Given the description of an element on the screen output the (x, y) to click on. 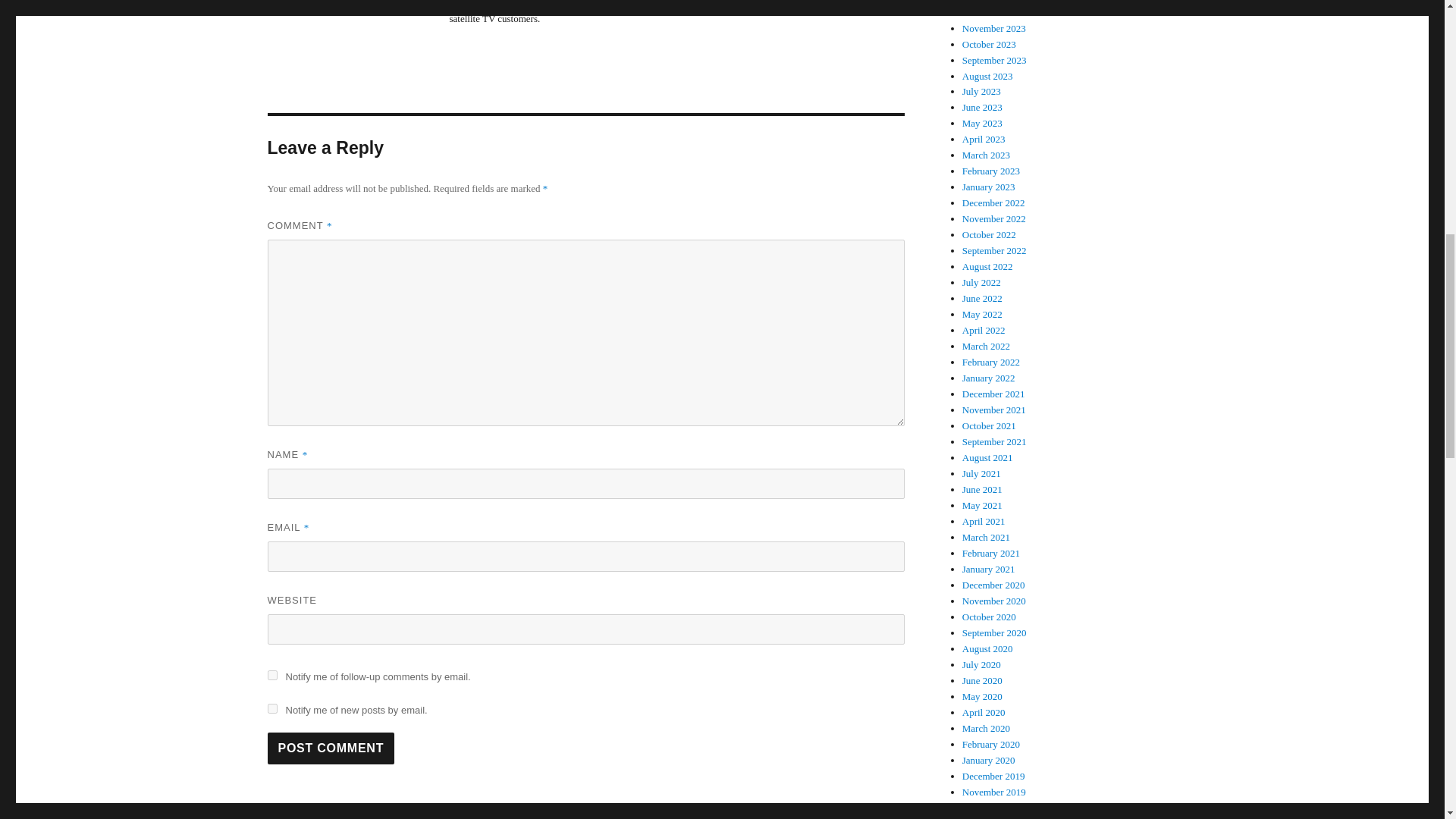
September 2023 (994, 60)
January 2024 (988, 1)
subscribe (271, 708)
November 2023 (994, 28)
August 2023 (987, 75)
May 2023 (982, 122)
October 2023 (989, 43)
Post Comment (330, 748)
June 2023 (982, 107)
July 2023 (981, 91)
December 2023 (993, 12)
subscribe (271, 675)
Post Comment (330, 748)
